Given the description of an element on the screen output the (x, y) to click on. 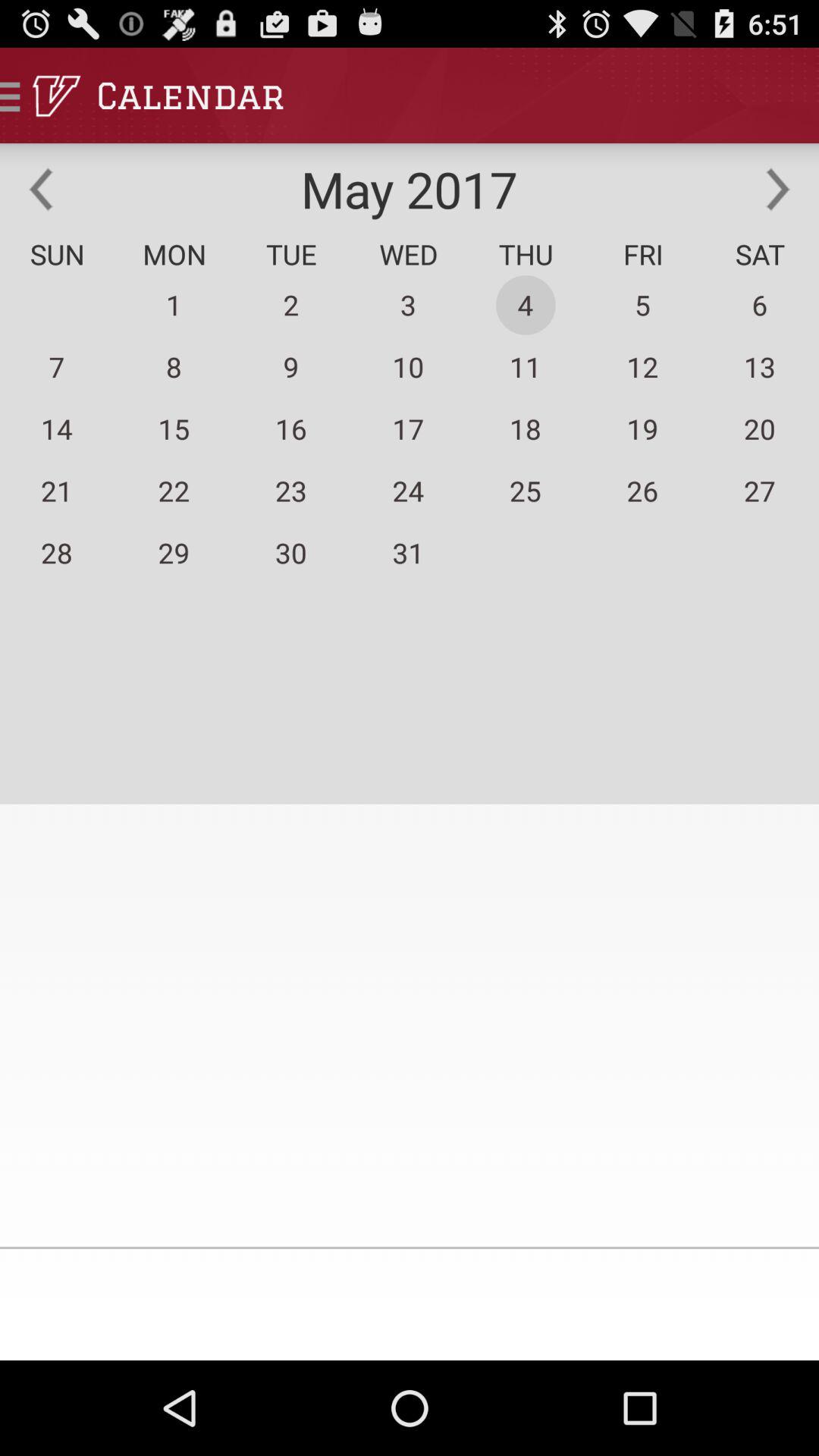
open the item above sun (40, 189)
